Given the description of an element on the screen output the (x, y) to click on. 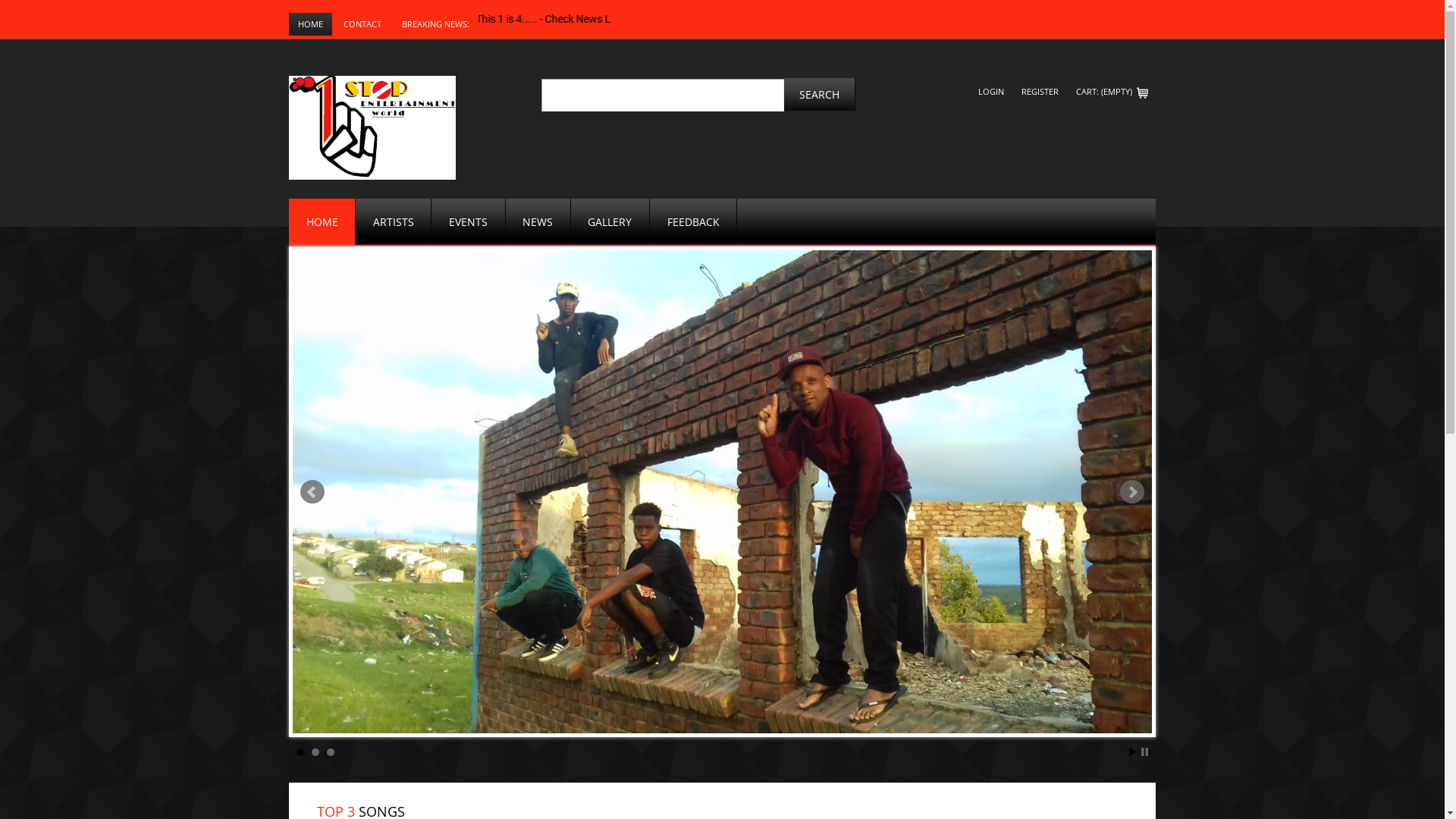
2 Element type: text (315, 752)
CONTACT Element type: text (362, 23)
logo Element type: hover (371, 127)
FEEDBACK Element type: text (693, 221)
Stop Element type: text (1144, 751)
LOGIN Element type: text (990, 91)
search Element type: text (819, 94)
Prev Element type: text (312, 492)
BREAKING NEWS: Element type: text (435, 23)
HOME Element type: text (310, 23)
REGISTER Element type: text (1039, 91)
NEWS Element type: text (538, 221)
ARTISTS Element type: text (393, 221)
cart Element type: hover (1142, 92)
1 Element type: text (300, 752)
HOME Element type: text (321, 221)
CART: (EMPTY) Element type: text (1111, 91)
Next Element type: text (1132, 492)
EVENTS Element type: text (468, 221)
3 Element type: text (330, 752)
GALLERY Element type: text (610, 221)
Start Element type: text (1132, 751)
